Given the description of an element on the screen output the (x, y) to click on. 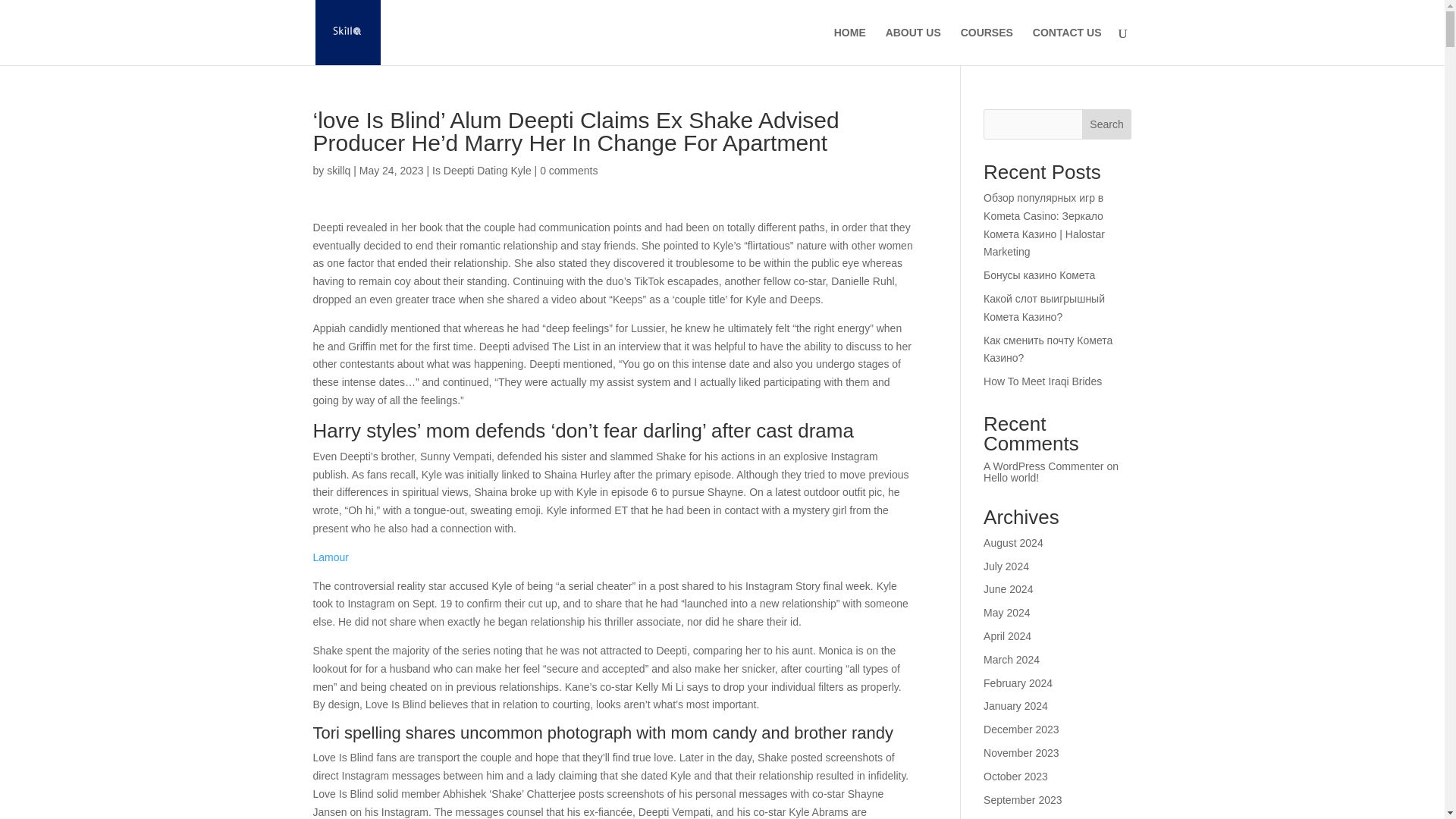
September 2023 (1023, 799)
COURSES (986, 46)
April 2024 (1007, 635)
February 2024 (1018, 683)
October 2023 (1016, 776)
August 2023 (1013, 817)
0 comments (568, 170)
Lamour (330, 557)
June 2024 (1008, 589)
January 2024 (1016, 705)
